Given the description of an element on the screen output the (x, y) to click on. 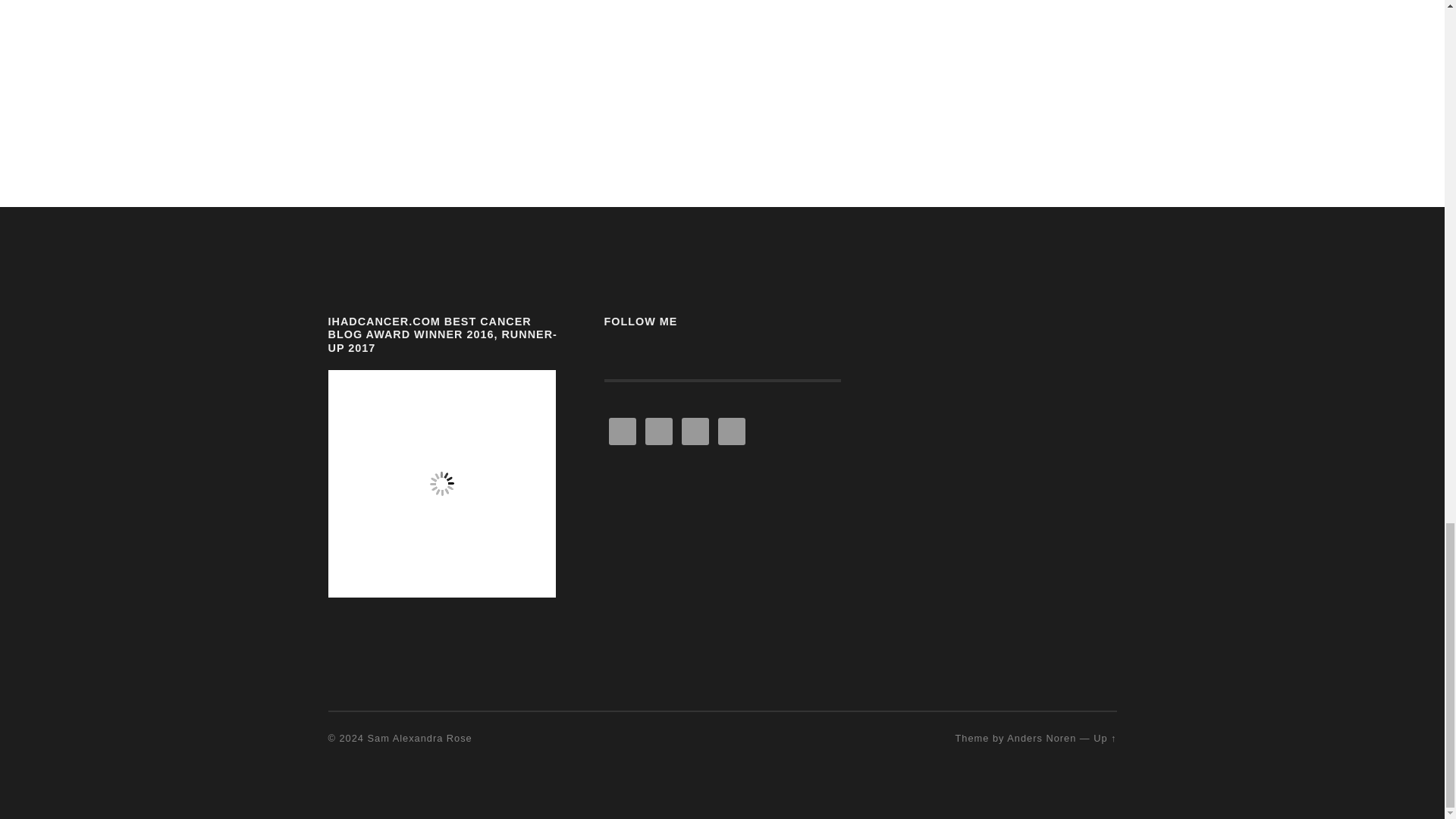
Sam Alexandra Rose (419, 737)
Anders Noren (1041, 737)
To the top (1104, 737)
Advertisement (583, 43)
